Given the description of an element on the screen output the (x, y) to click on. 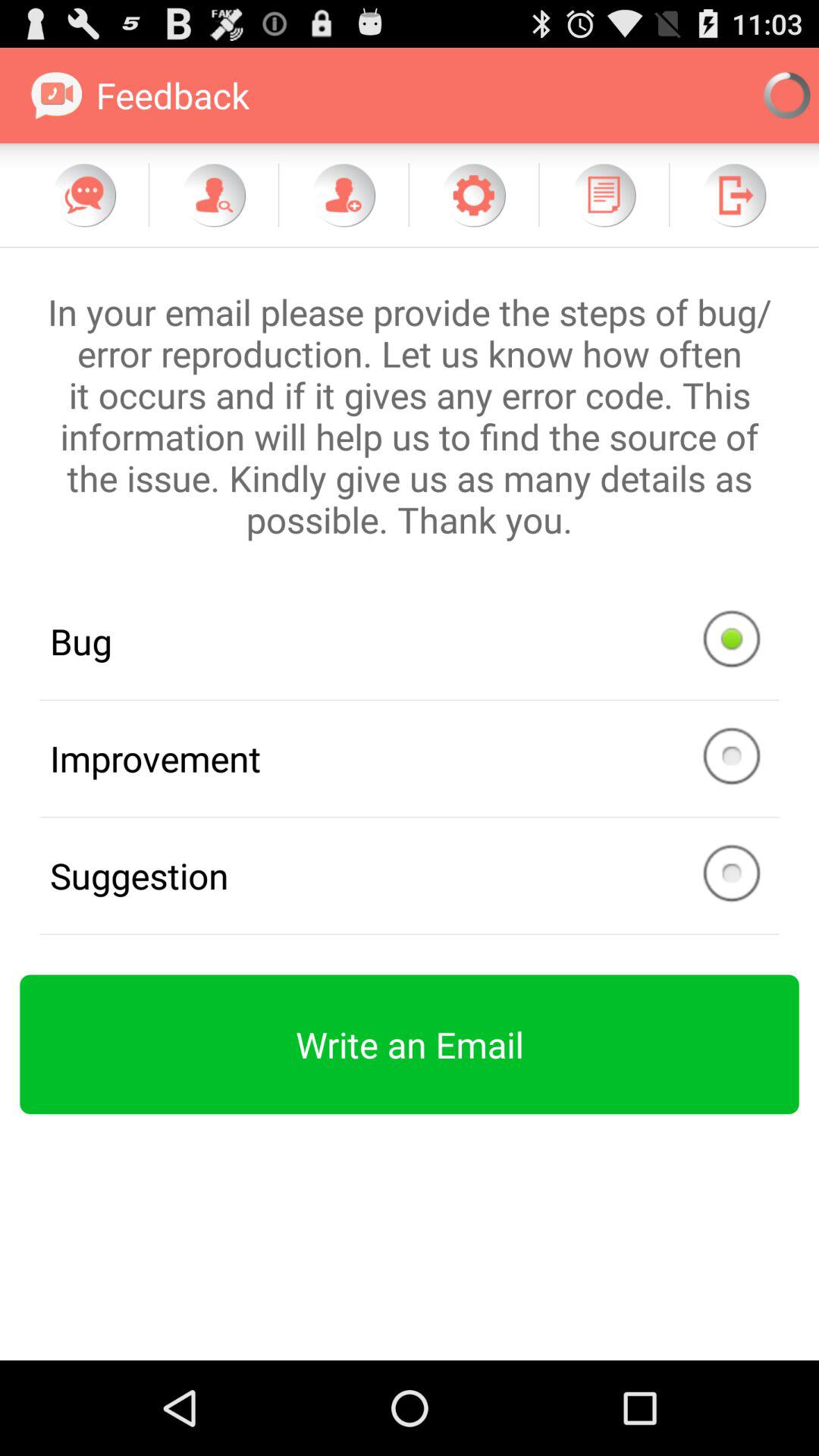
settings (473, 194)
